Given the description of an element on the screen output the (x, y) to click on. 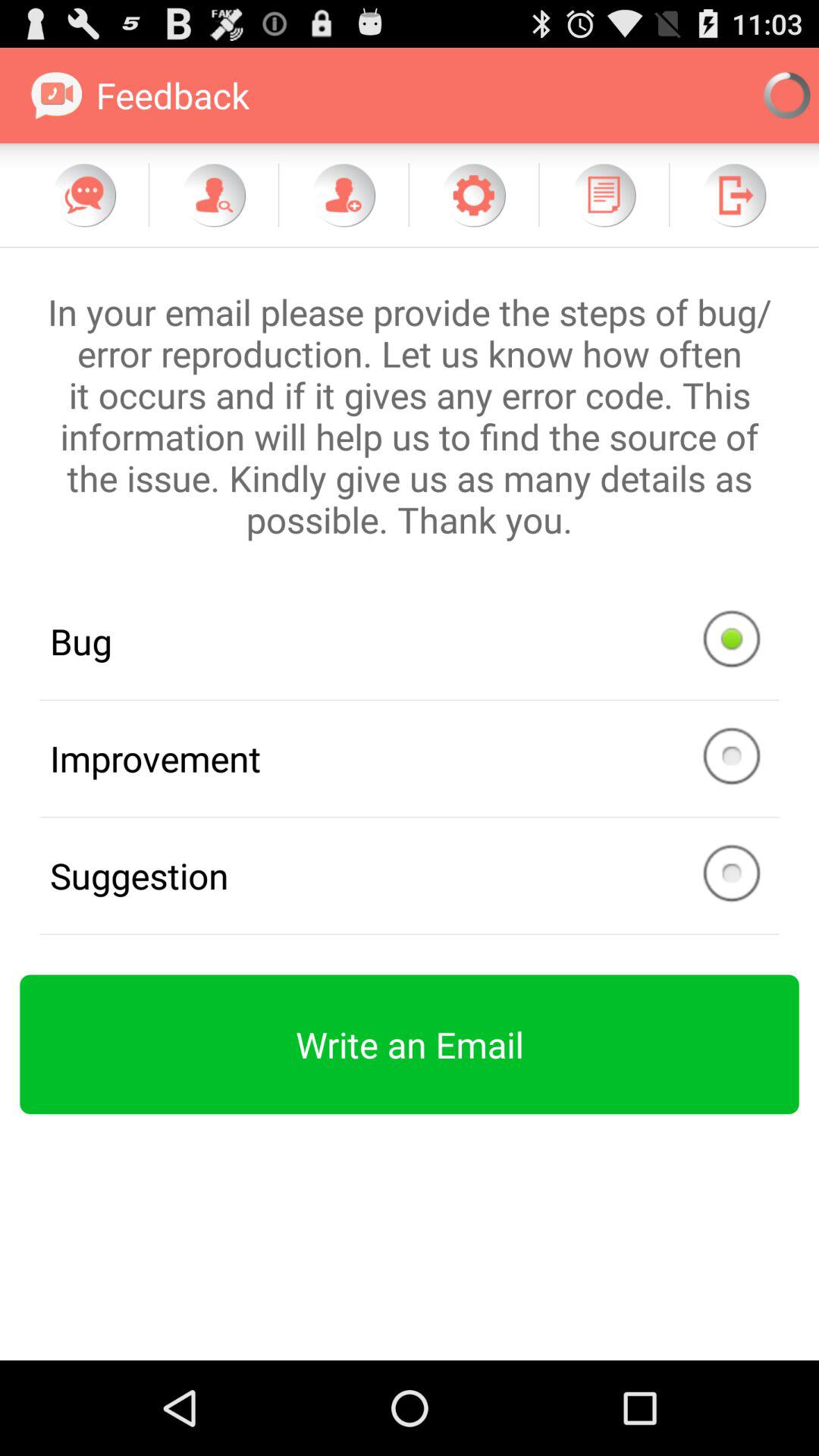
settings (473, 194)
